Given the description of an element on the screen output the (x, y) to click on. 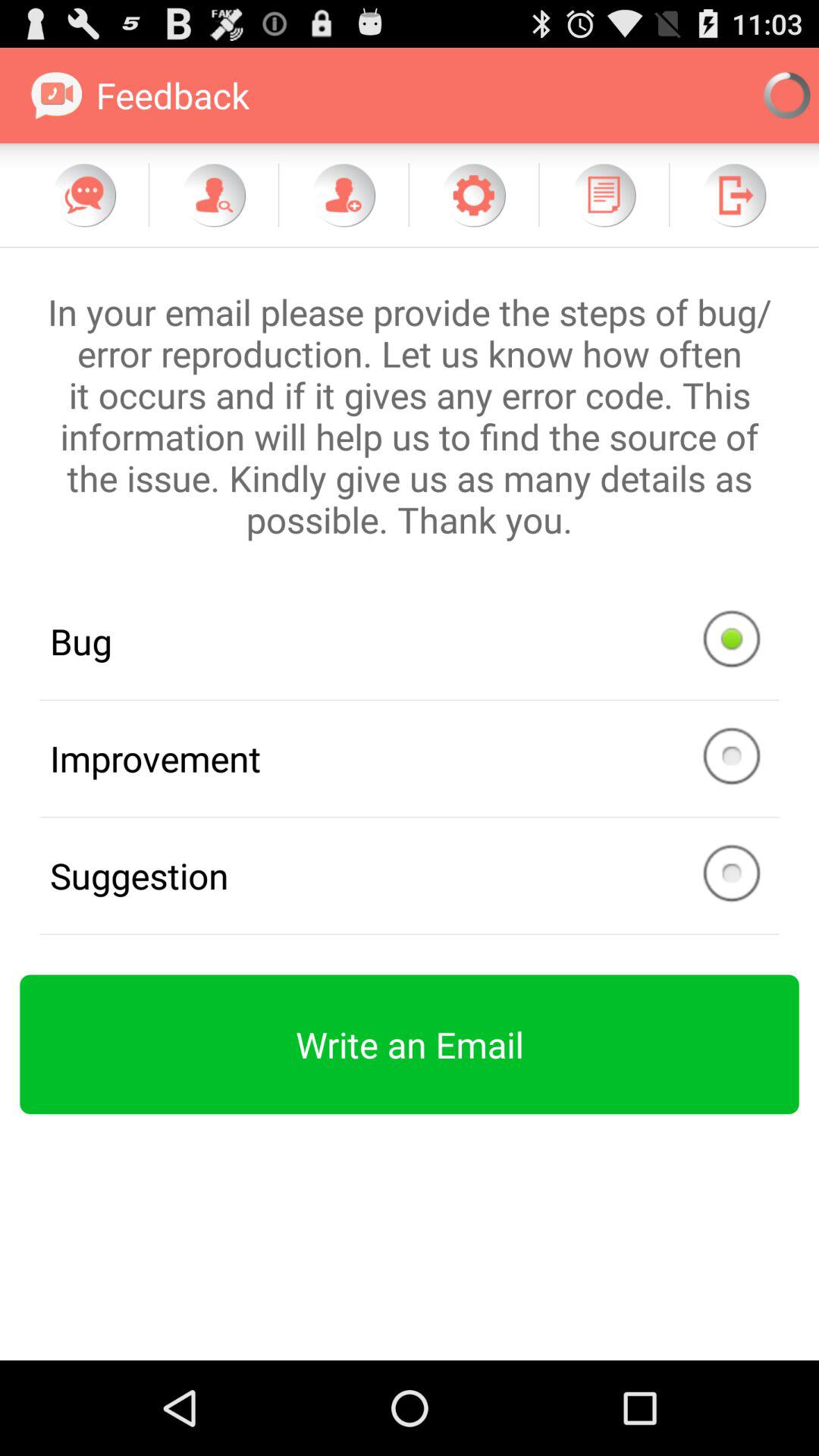
settings (473, 194)
